Given the description of an element on the screen output the (x, y) to click on. 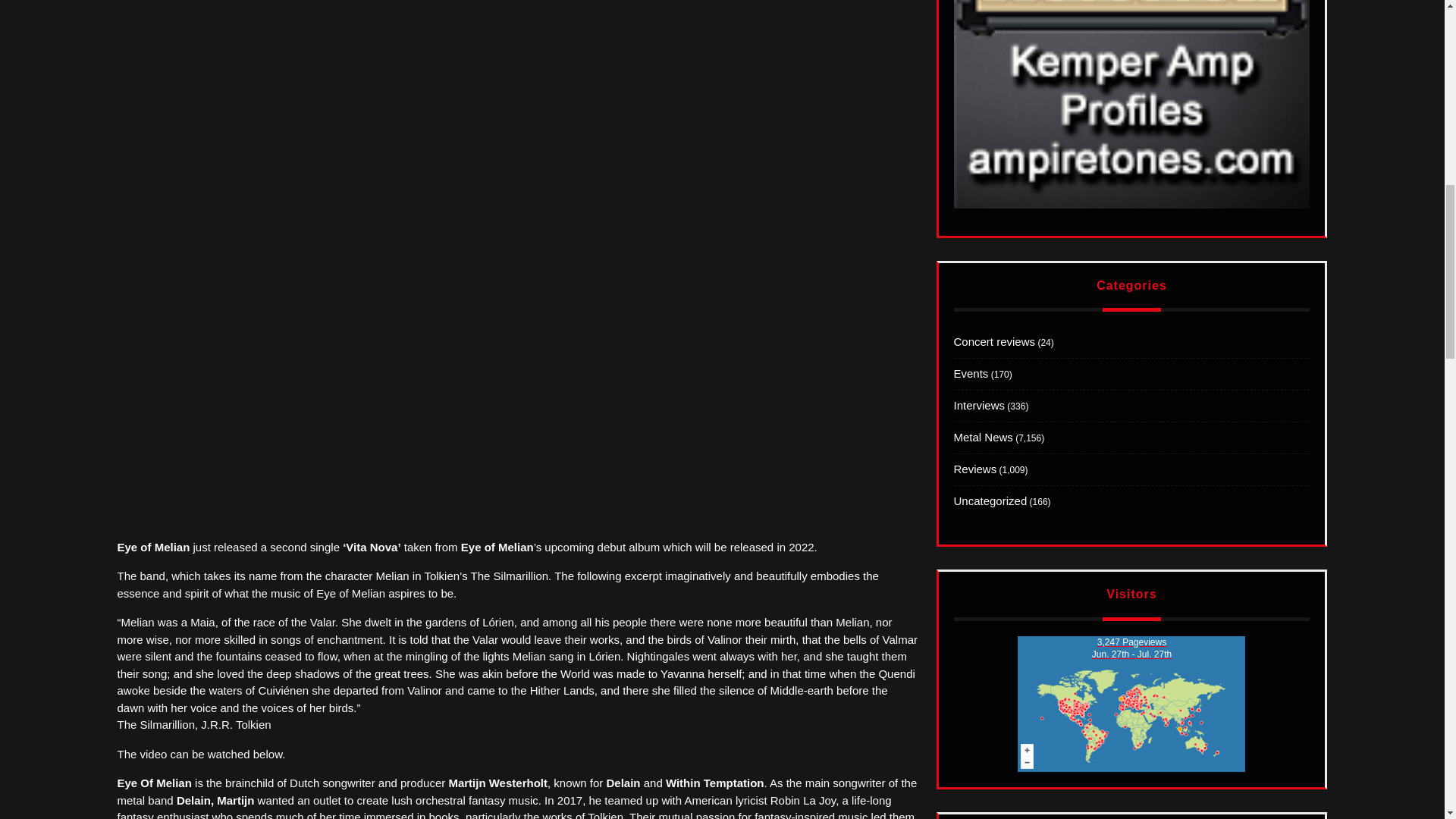
Metal News (983, 436)
Events (970, 373)
Concert reviews (994, 341)
Interviews (979, 404)
Reviews (975, 468)
